Given the description of an element on the screen output the (x, y) to click on. 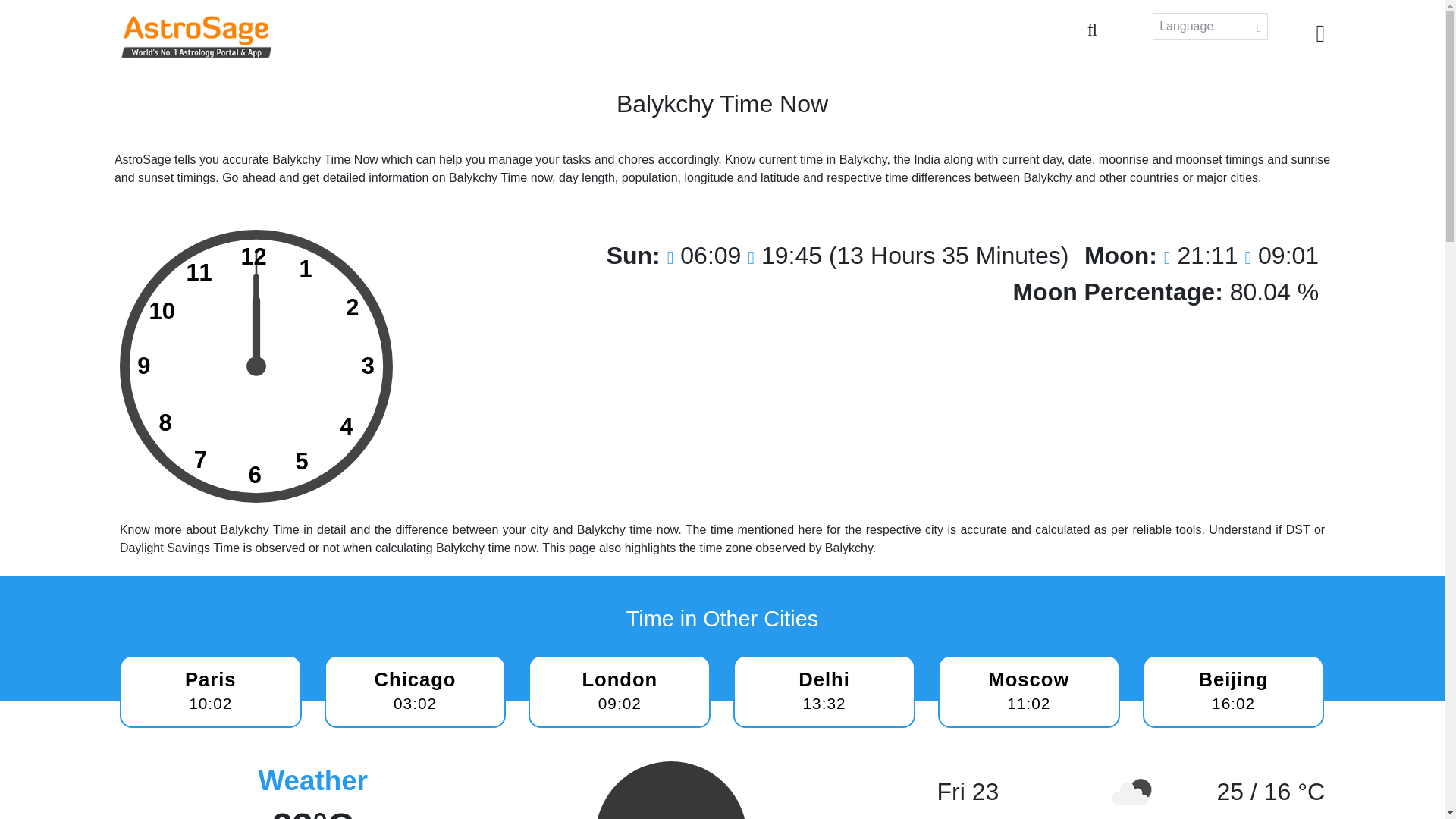
Submit (256, 366)
Weather (1028, 691)
